Given the description of an element on the screen output the (x, y) to click on. 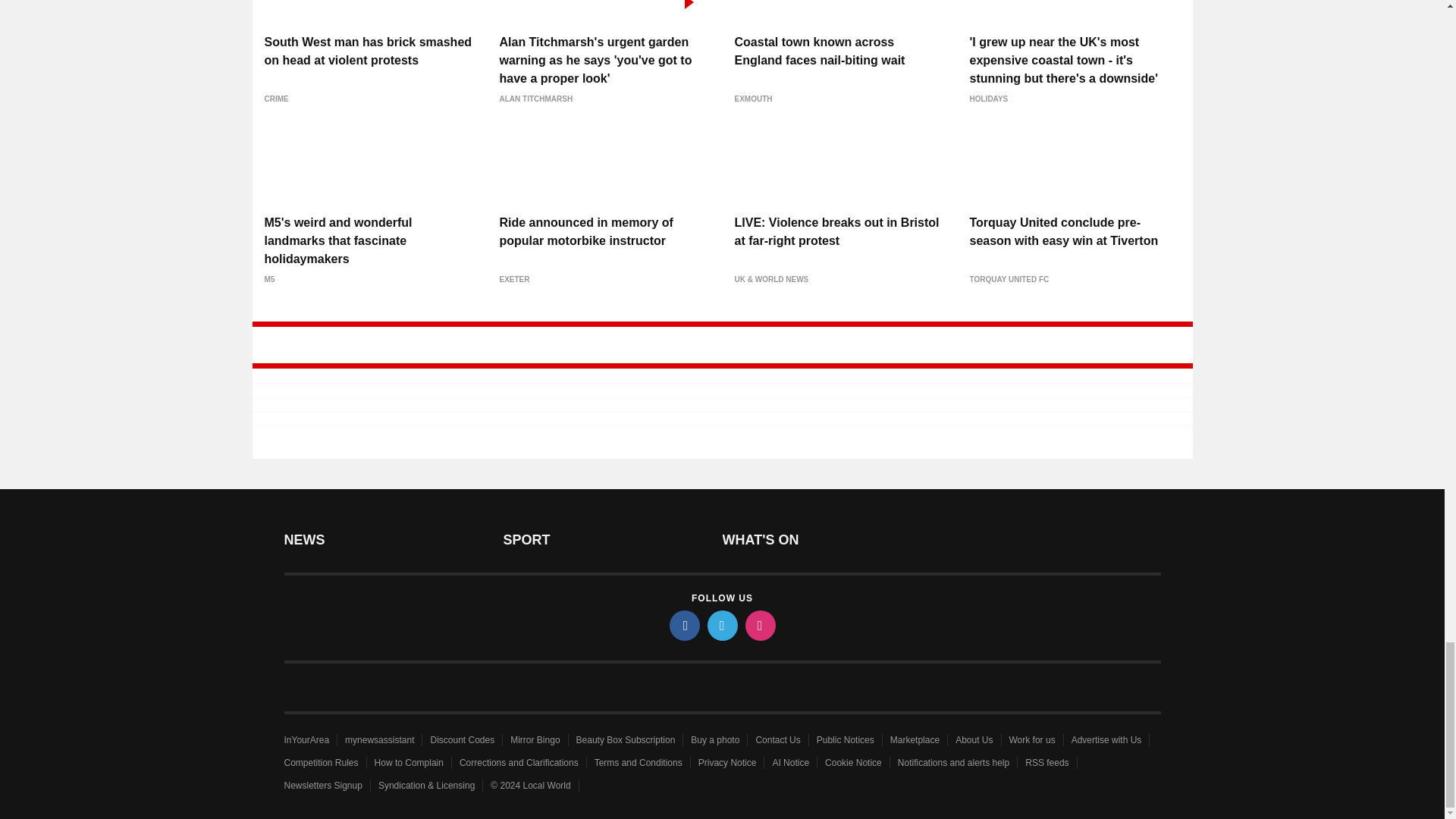
twitter (721, 625)
instagram (759, 625)
facebook (683, 625)
